Given the description of an element on the screen output the (x, y) to click on. 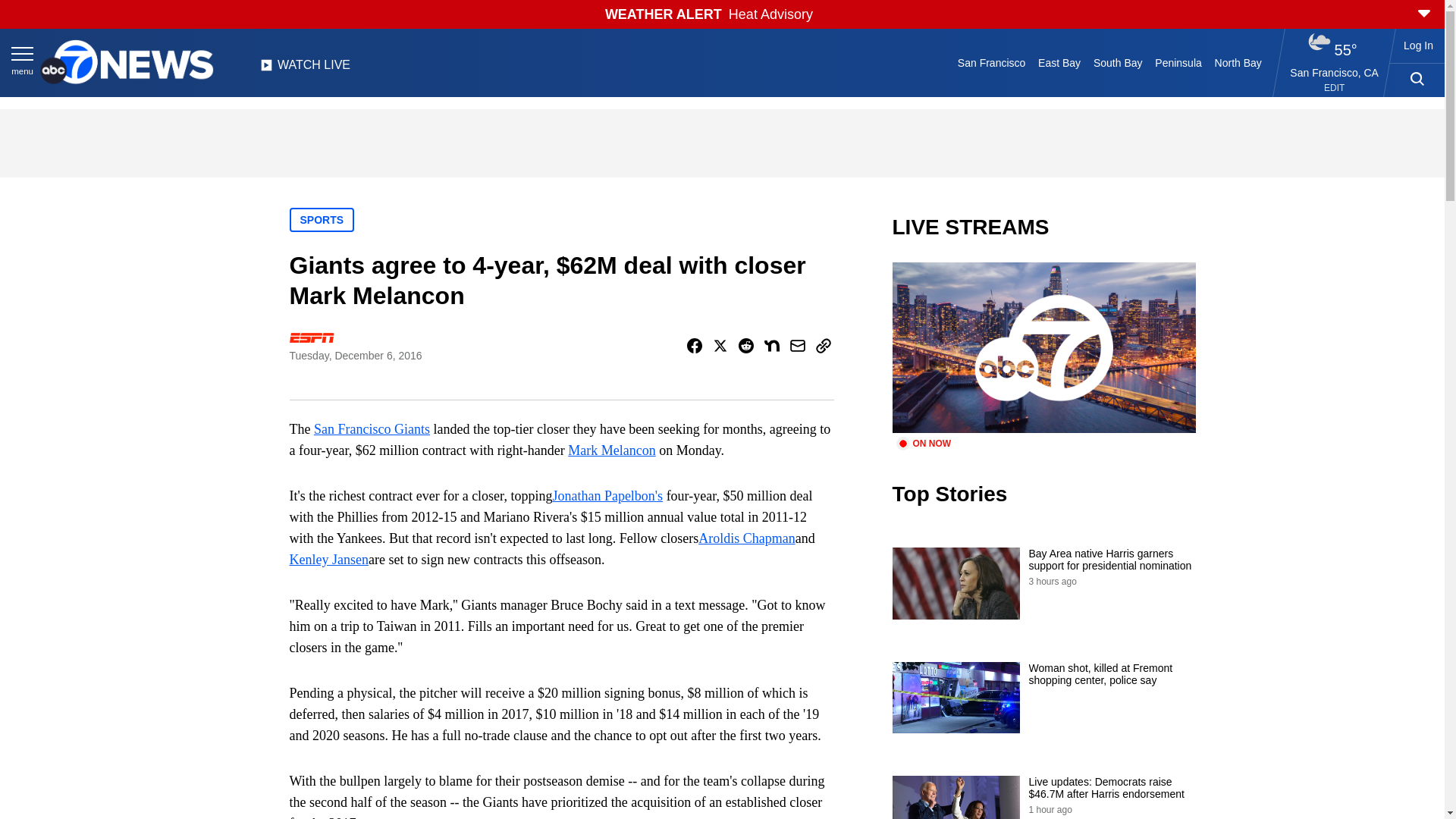
San Francisco (990, 62)
Peninsula (1178, 62)
East Bay (1059, 62)
South Bay (1117, 62)
San Francisco, CA (1334, 72)
EDIT (1333, 87)
WATCH LIVE (305, 69)
North Bay (1238, 62)
